Given the description of an element on the screen output the (x, y) to click on. 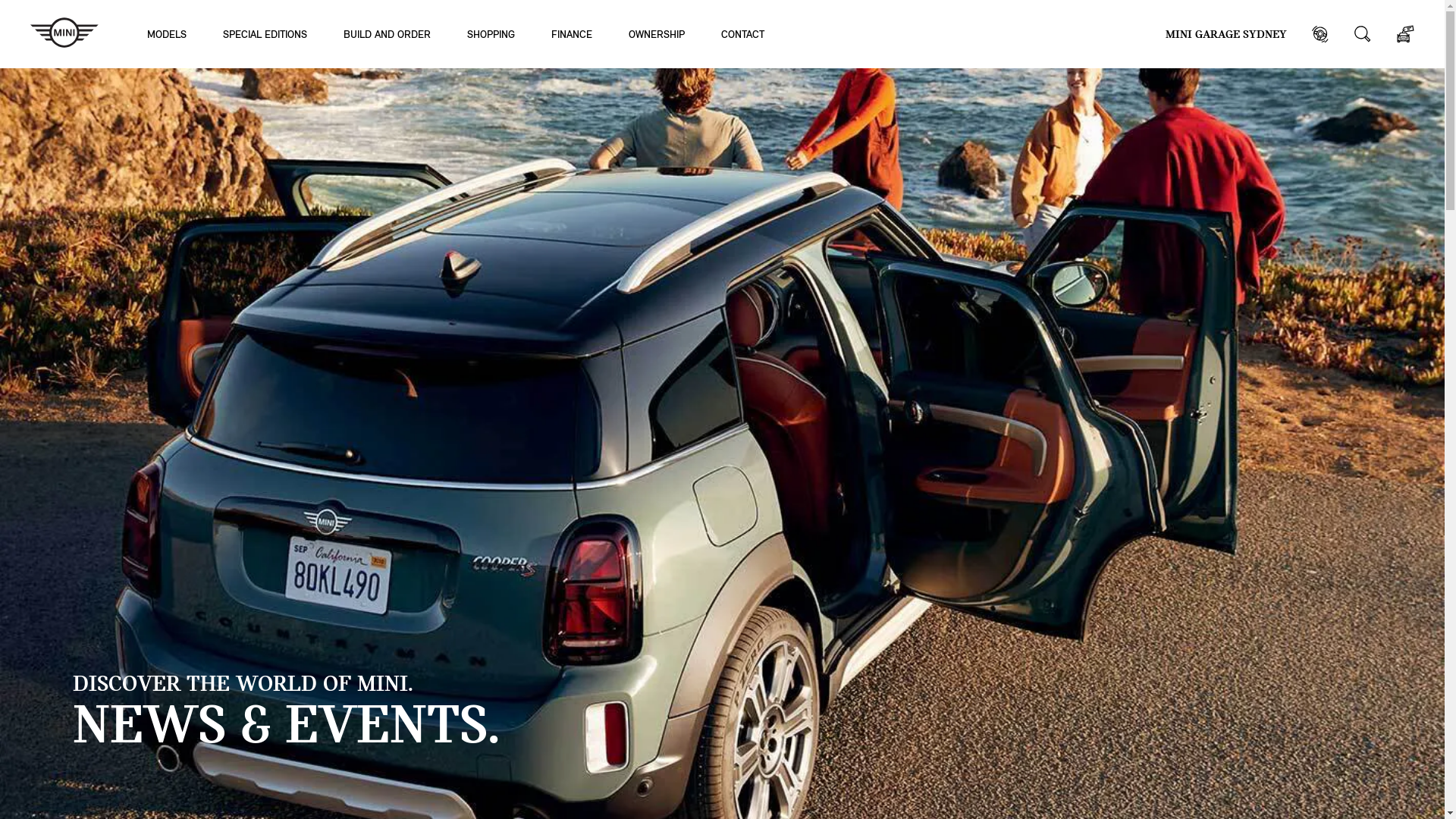
BUILD AND ORDER Element type: text (386, 33)
